Given the description of an element on the screen output the (x, y) to click on. 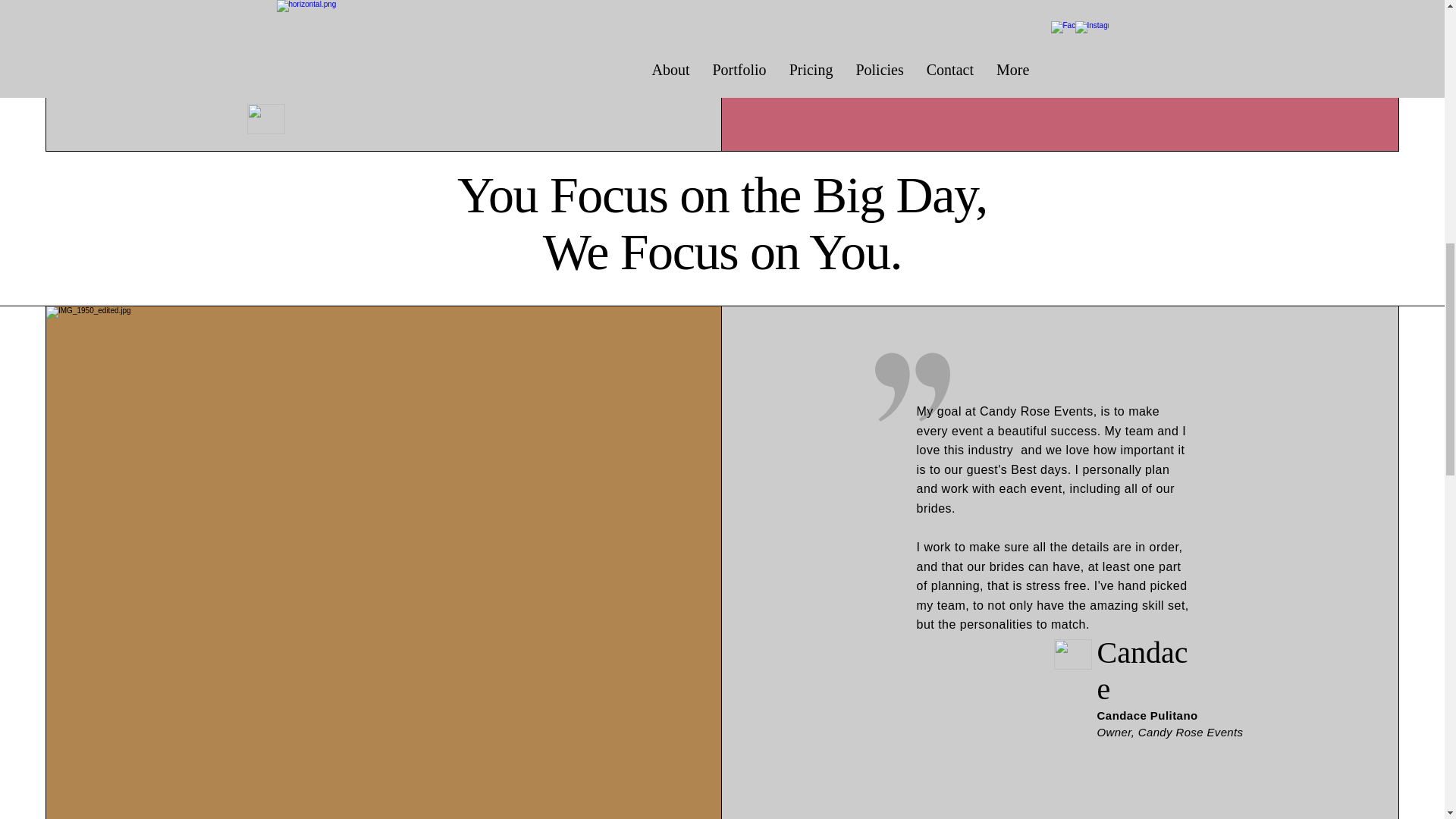
icon.png (266, 119)
icon.png (1073, 654)
